Given the description of an element on the screen output the (x, y) to click on. 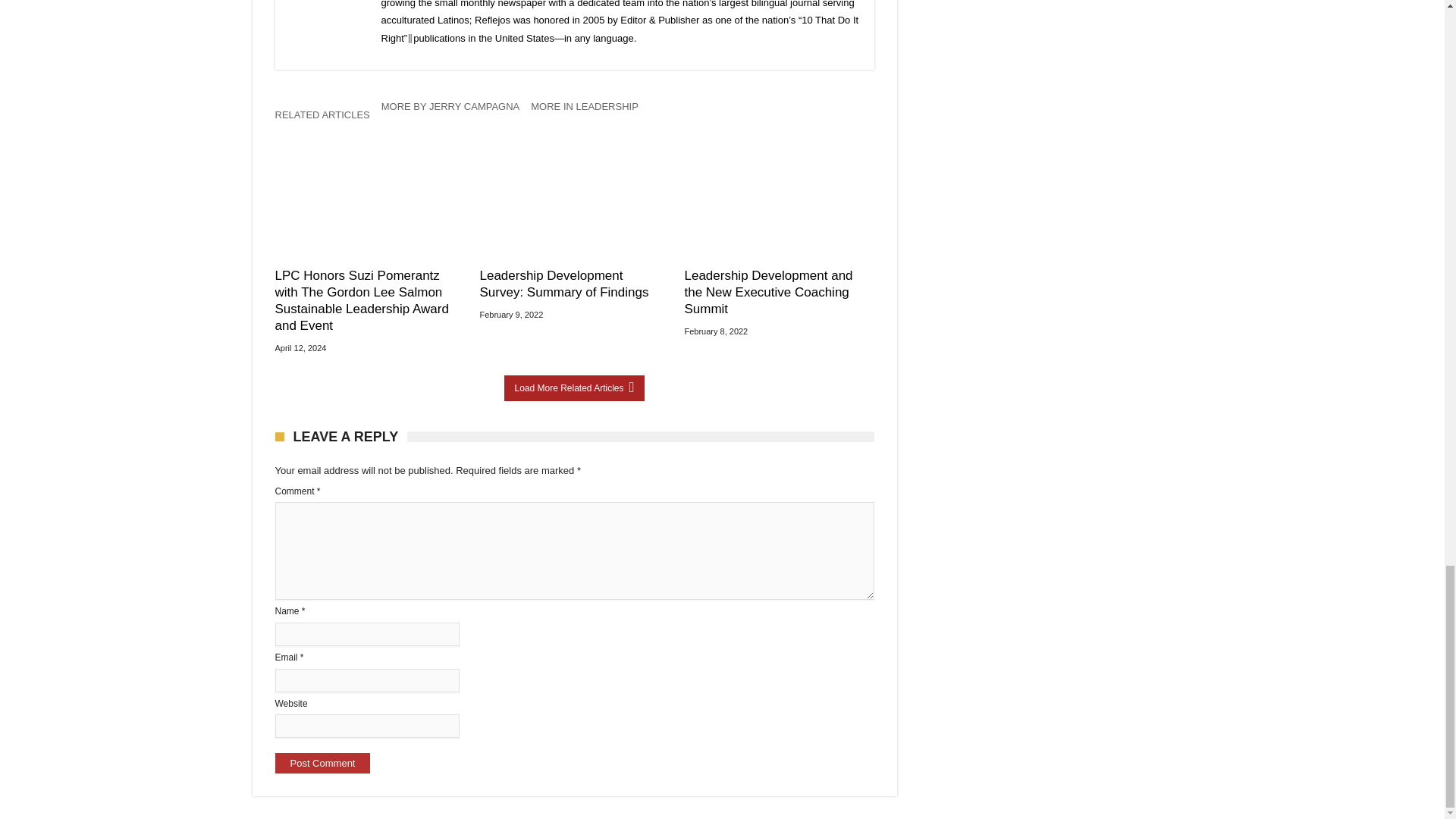
Post Comment (322, 762)
